Given the description of an element on the screen output the (x, y) to click on. 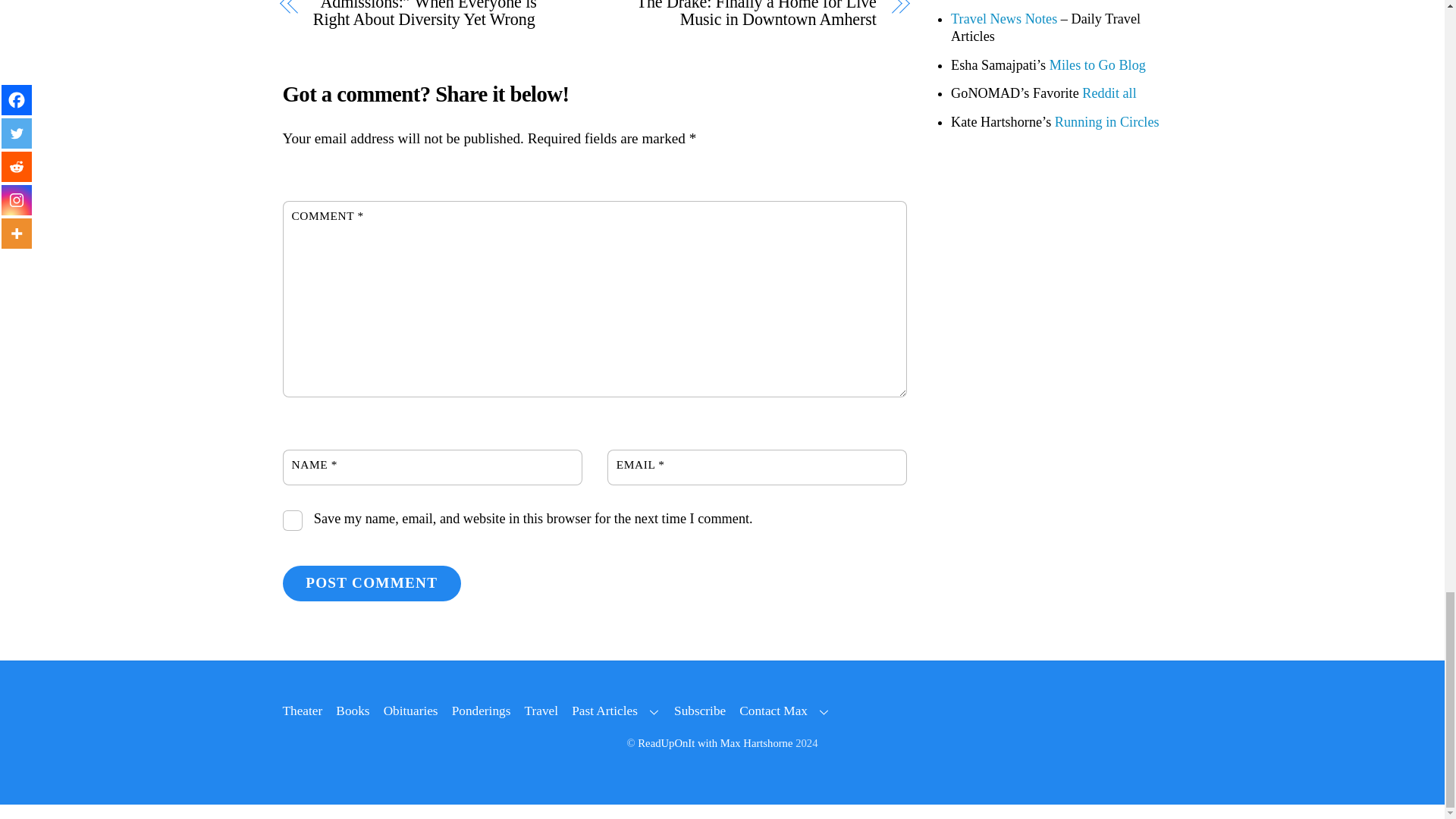
The Drake: Finally a Home for Live Music in Downtown Amherst (744, 13)
Post Comment (371, 583)
Post Comment (371, 583)
yes (292, 520)
